Given the description of an element on the screen output the (x, y) to click on. 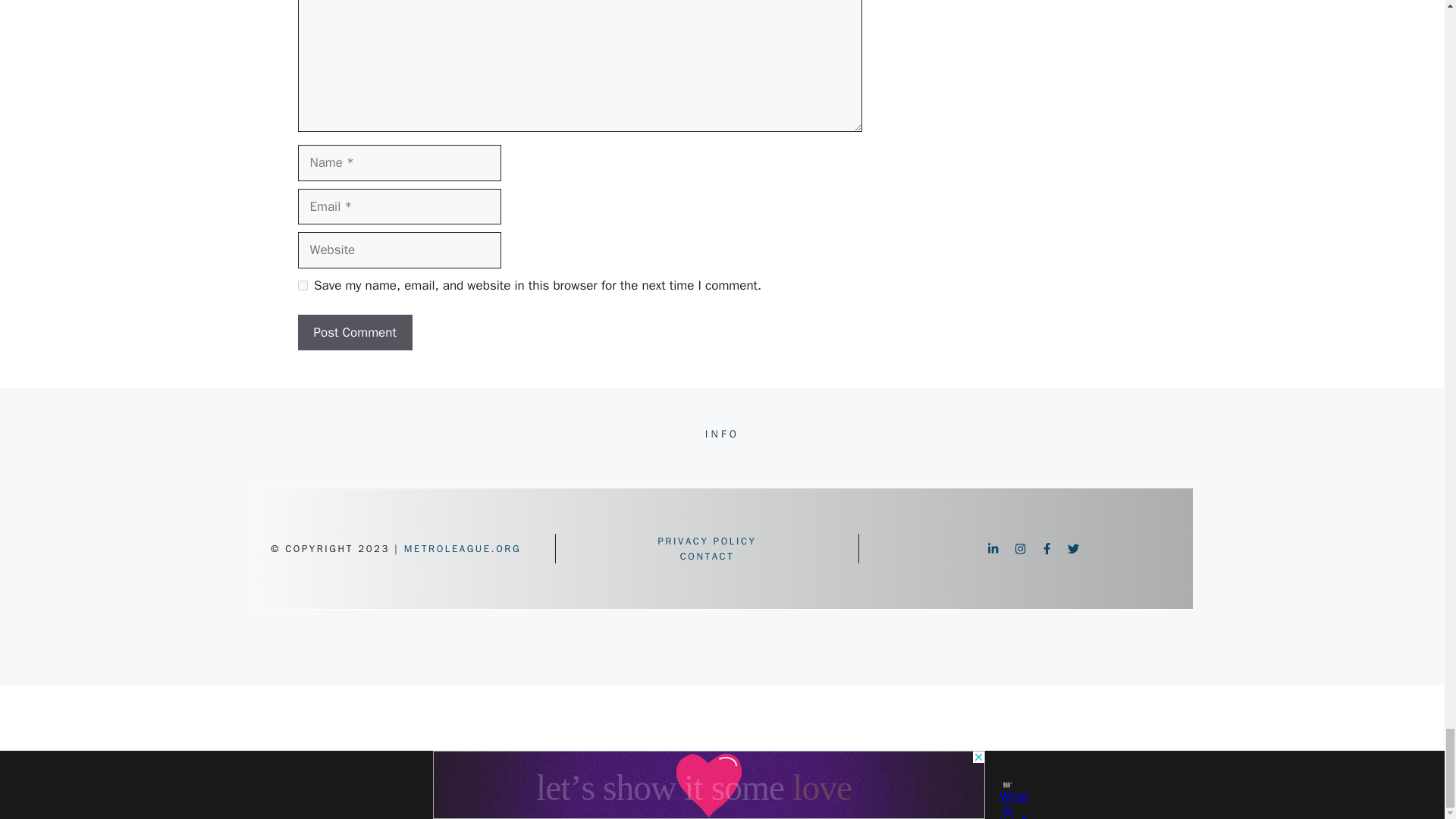
Post Comment (354, 332)
yes (302, 285)
Post Comment (354, 332)
